Given the description of an element on the screen output the (x, y) to click on. 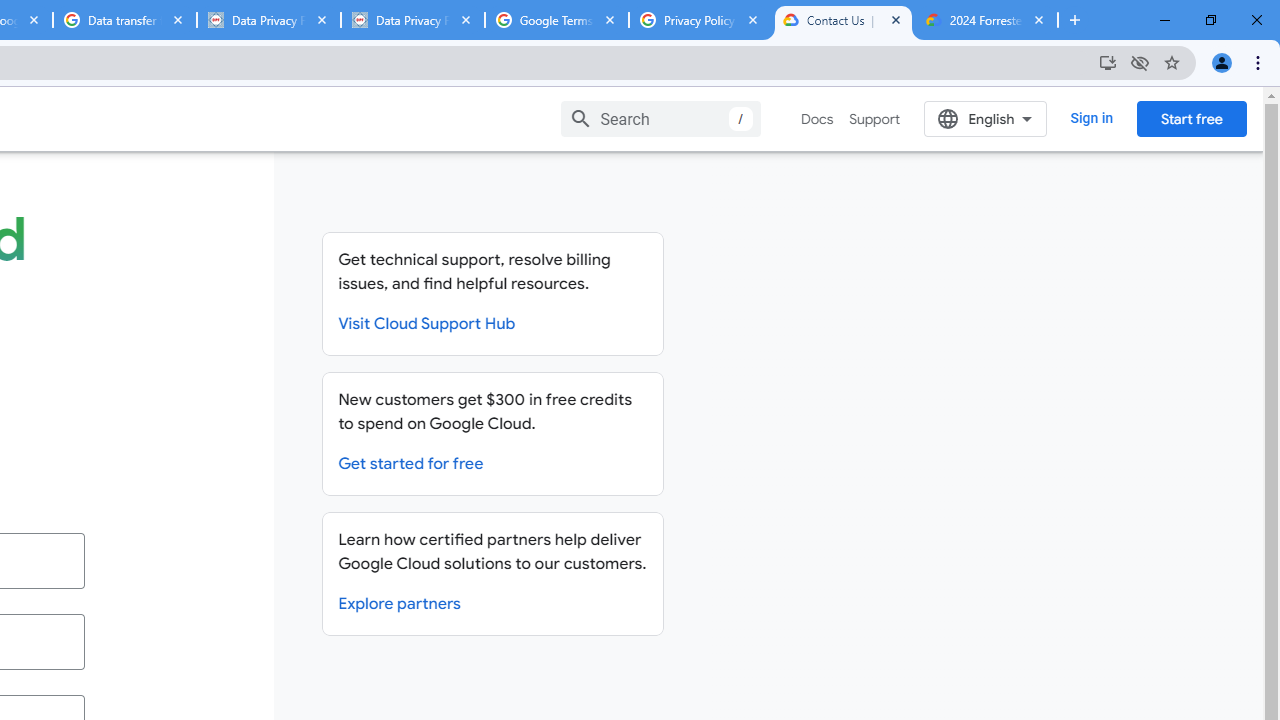
Data Privacy Framework (268, 20)
Docs (817, 119)
Start free (1191, 118)
